Given the description of an element on the screen output the (x, y) to click on. 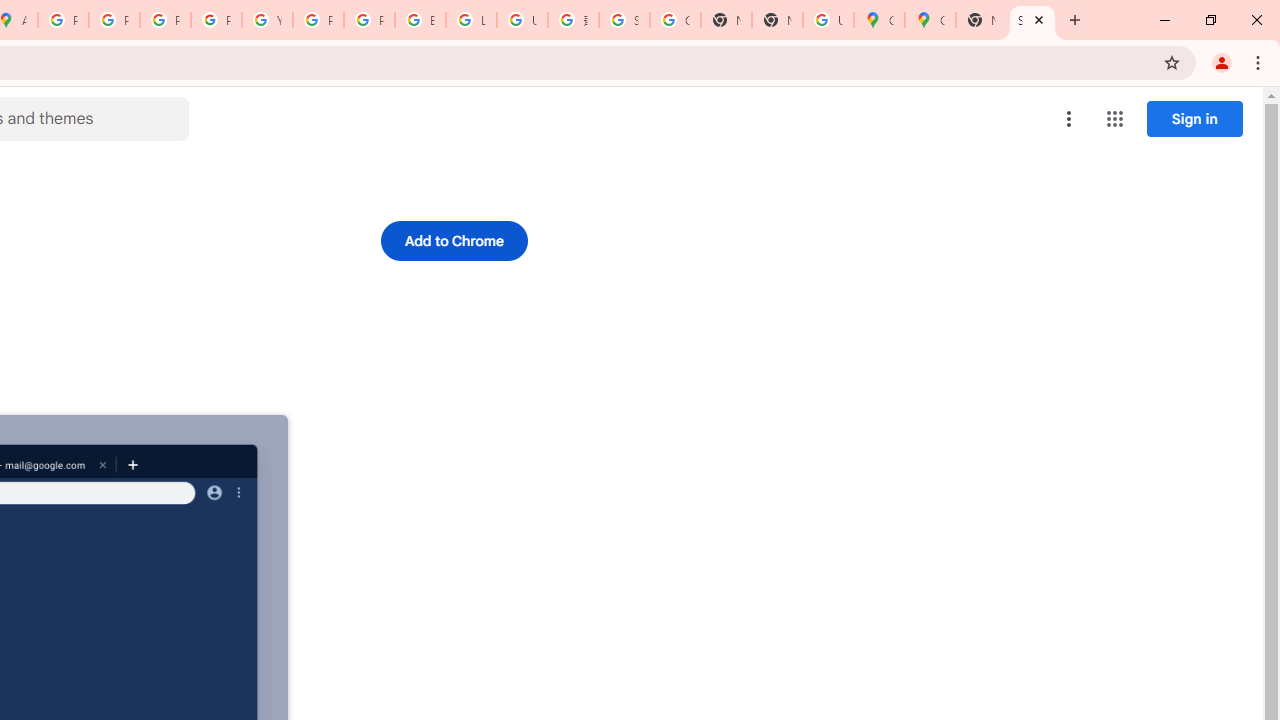
Use Google Maps in Space - Google Maps Help (827, 20)
Sign in - Google Accounts (624, 20)
Google Maps (878, 20)
More options menu (1069, 118)
Add to Chrome (453, 240)
Privacy Help Center - Policies Help (164, 20)
Google Maps (930, 20)
